Given the description of an element on the screen output the (x, y) to click on. 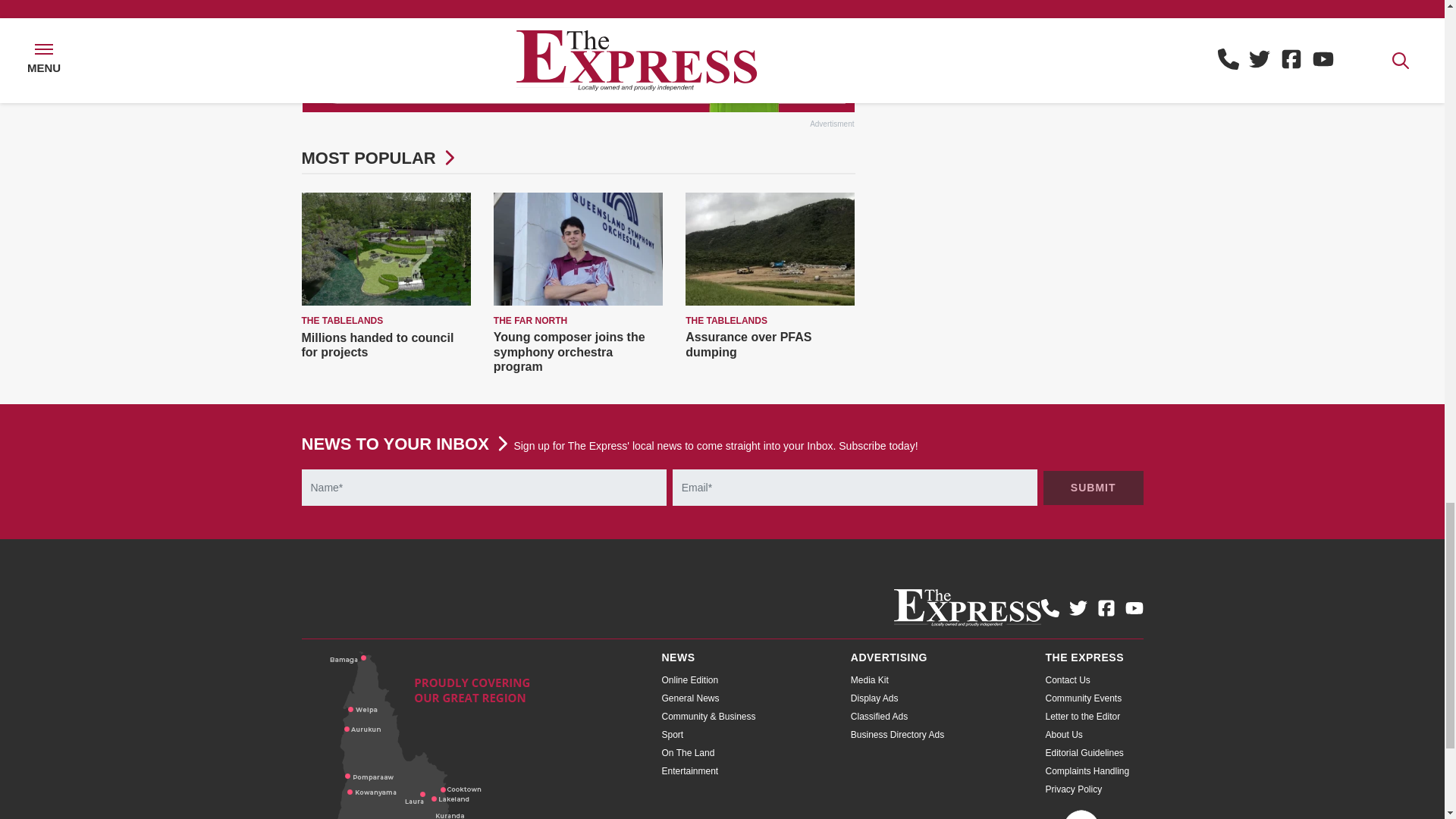
Assurance over PFAS dumping (747, 343)
Young composer joins the symphony orchestra program (569, 351)
Submit (1092, 487)
Submit (1092, 487)
Millions handed to council for projects (377, 344)
